Given the description of an element on the screen output the (x, y) to click on. 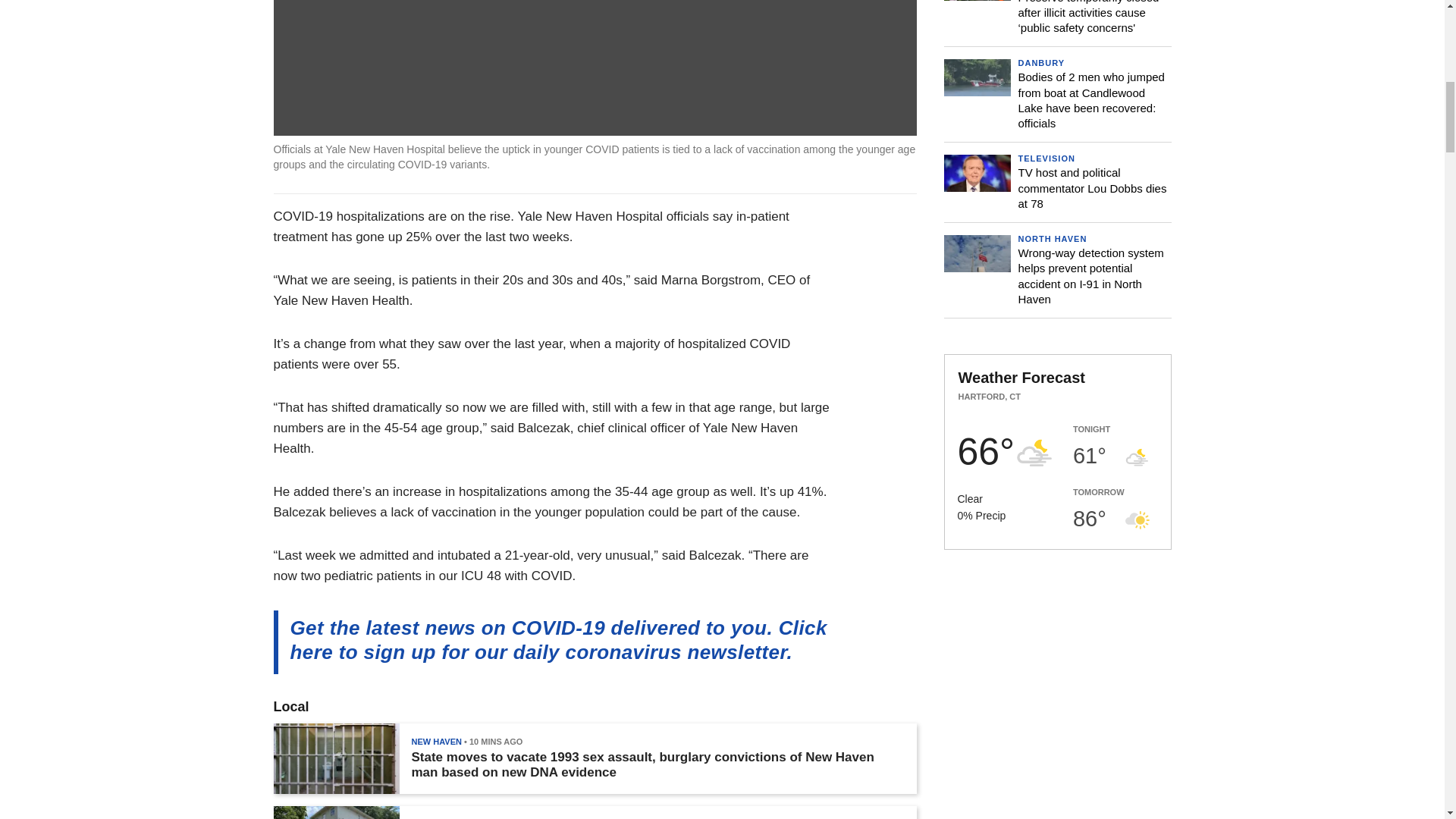
NEW HAVEN (435, 741)
